Given the description of an element on the screen output the (x, y) to click on. 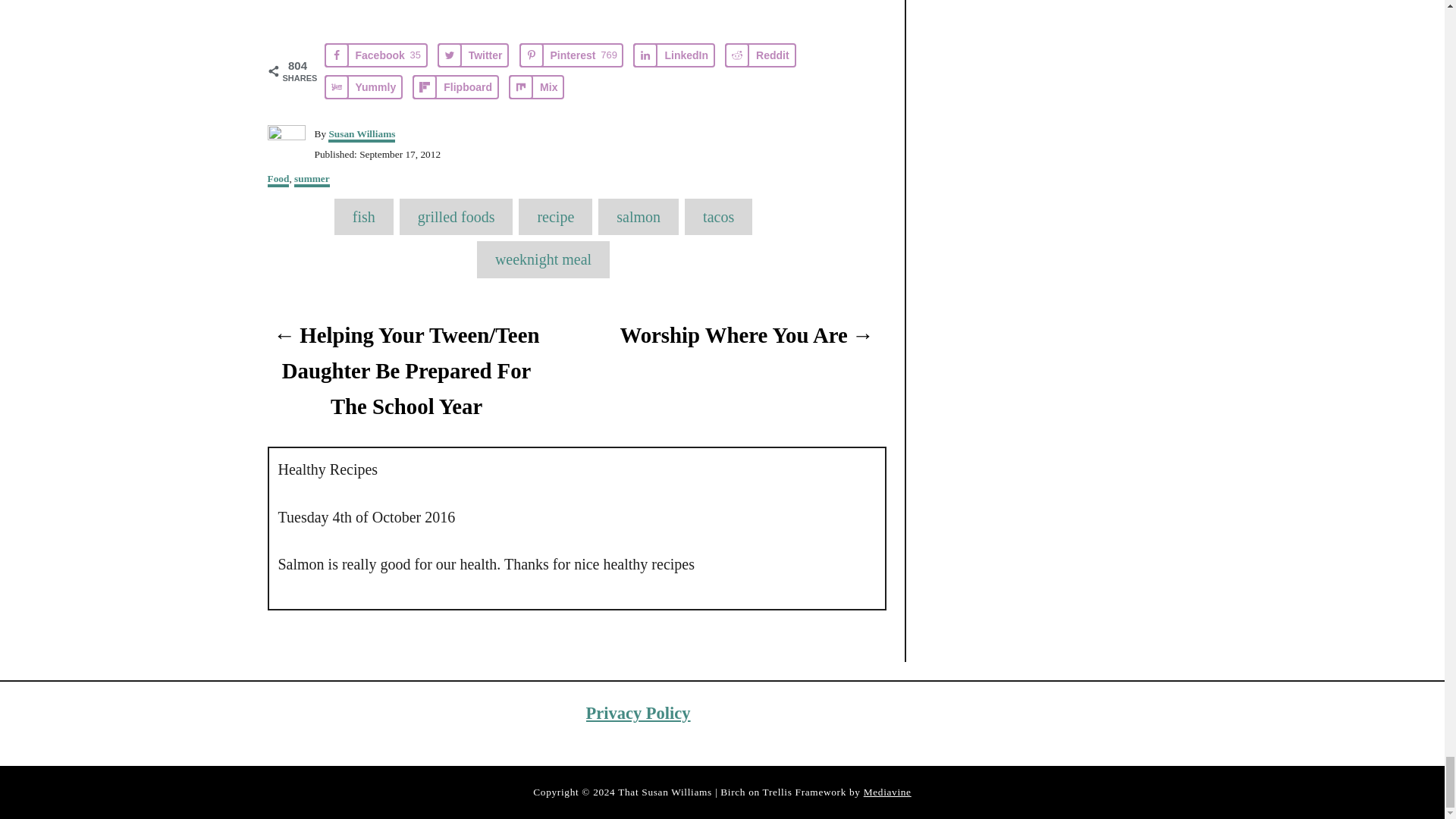
Share on Twitter (473, 55)
Share on Facebook (376, 55)
Save to Pinterest (571, 55)
